Given the description of an element on the screen output the (x, y) to click on. 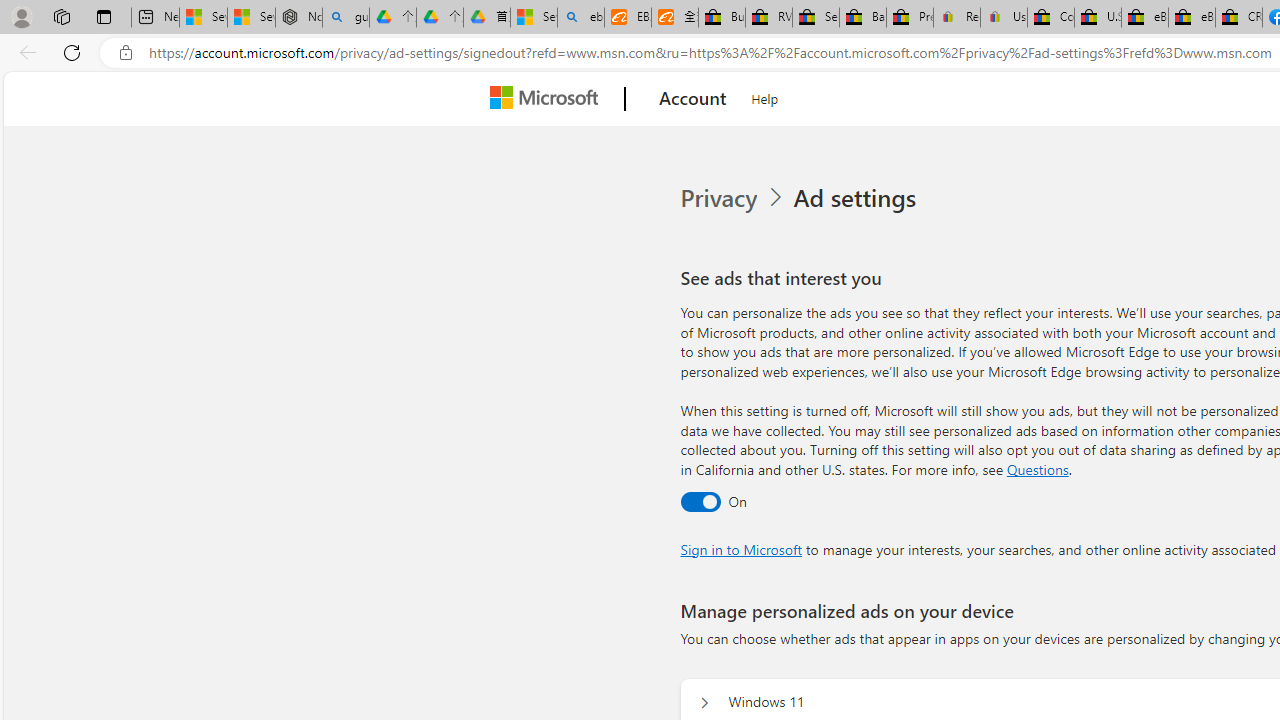
Account (692, 99)
guge yunpan - Search (345, 17)
Go to Questions section (1037, 468)
Help (765, 96)
Microsoft (548, 99)
Ad settings (858, 197)
